Given the description of an element on the screen output the (x, y) to click on. 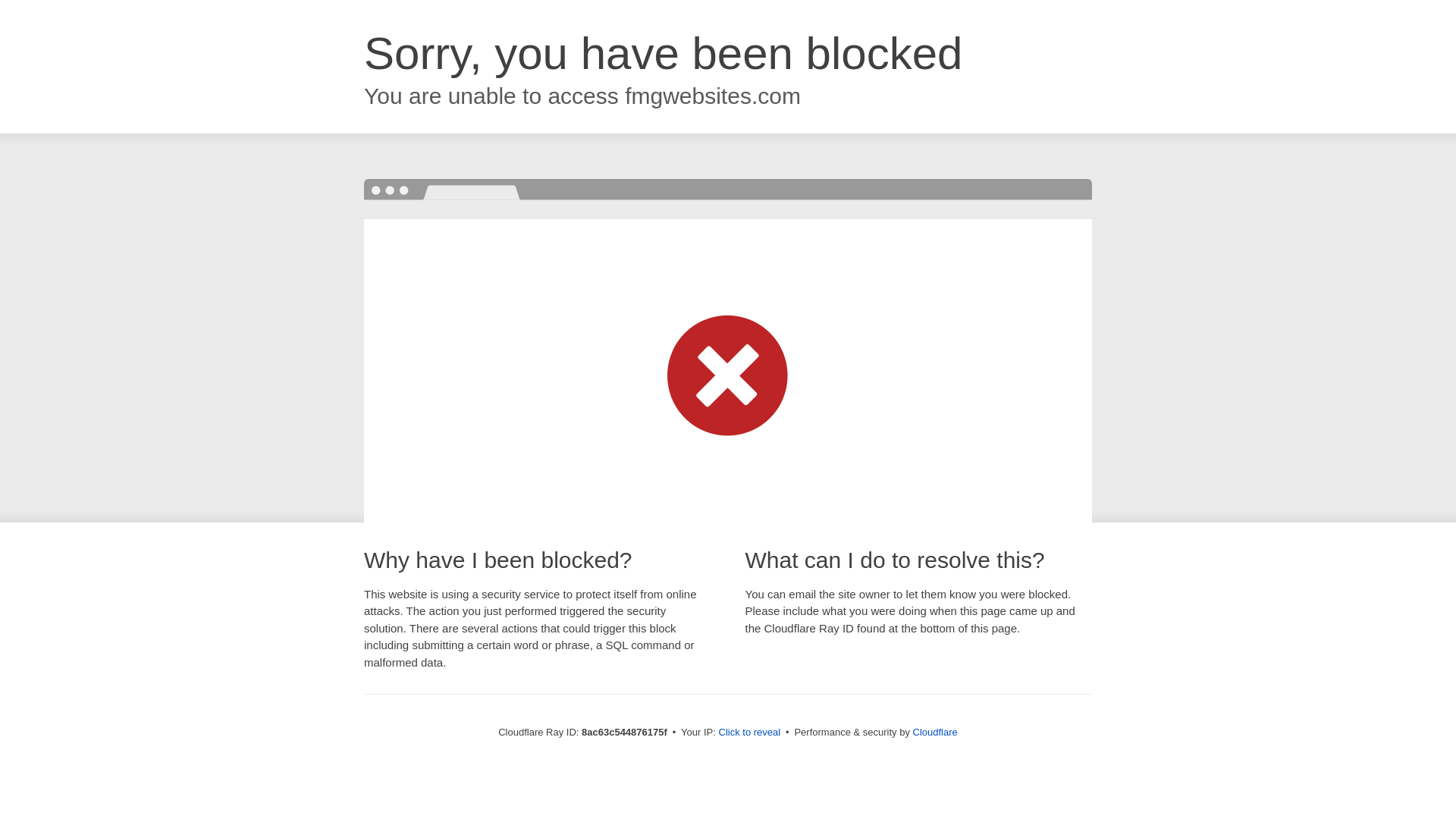
Cloudflare (935, 731)
Click to reveal (749, 732)
